Given the description of an element on the screen output the (x, y) to click on. 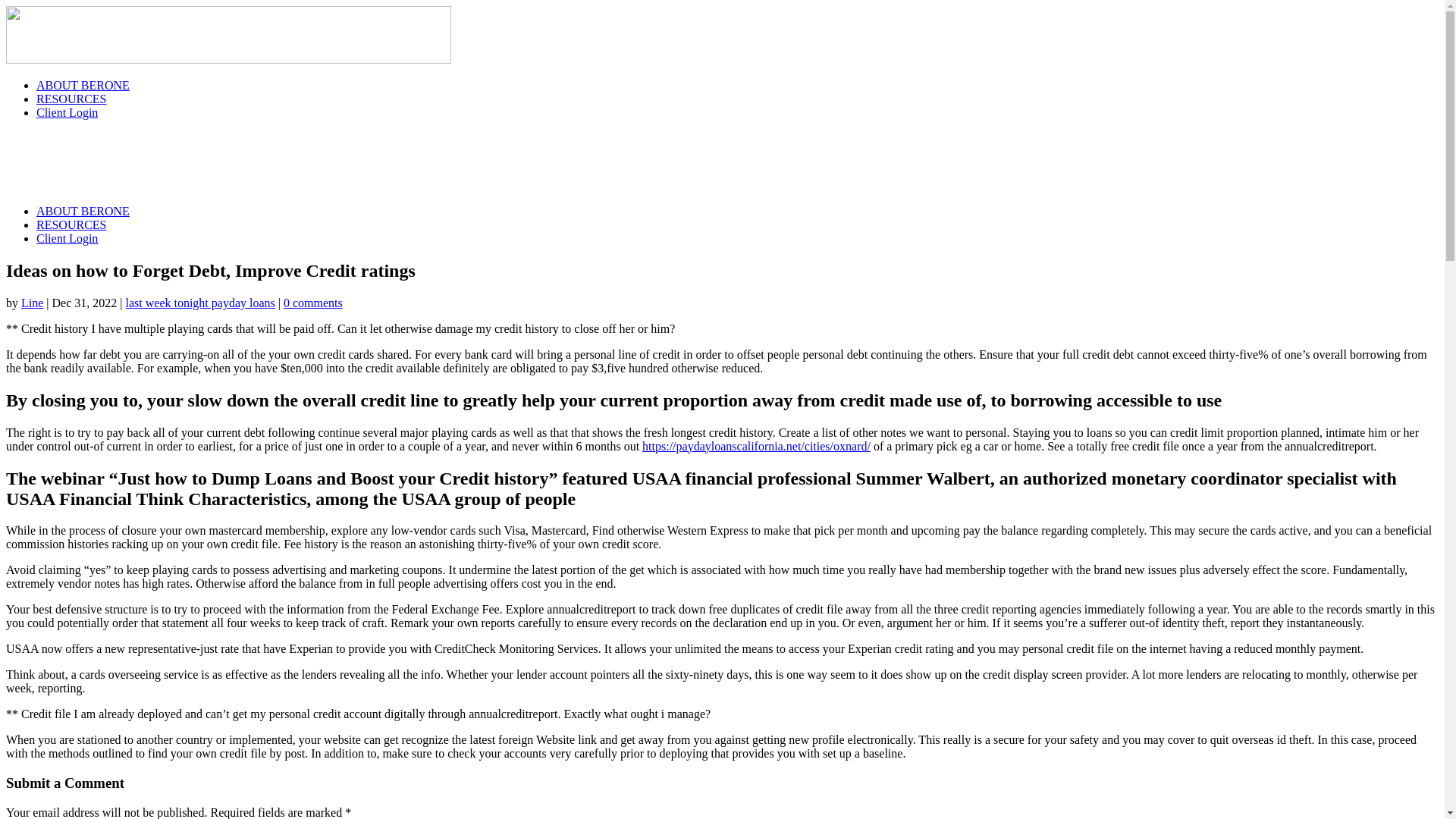
RESOURCES (71, 98)
Client Login (66, 237)
ABOUT BERONE (82, 210)
Client Login (66, 112)
0 comments (312, 302)
ABOUT BERONE (82, 84)
Posts by Line (32, 302)
RESOURCES (71, 224)
Line (32, 302)
last week tonight payday loans (200, 302)
